Given the description of an element on the screen output the (x, y) to click on. 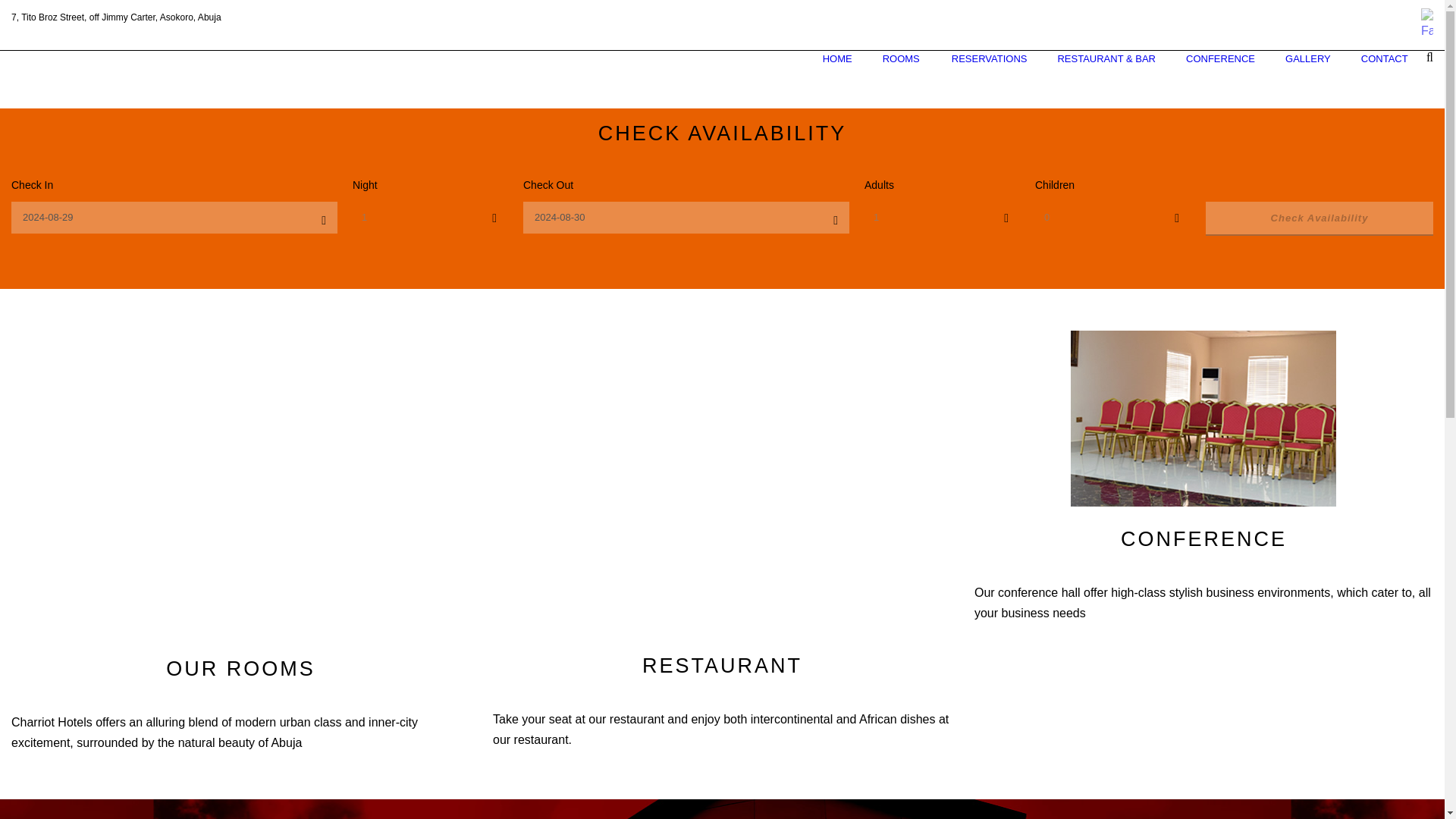
CONTACT (1384, 75)
GALLERY (1307, 75)
ROOMS (901, 75)
2024-08-29 (174, 217)
Check Availability (1318, 218)
RESERVATIONS (989, 75)
CONFERENCE (1219, 75)
Check Availability (1318, 218)
2024-08-30 (685, 217)
